Given the description of an element on the screen output the (x, y) to click on. 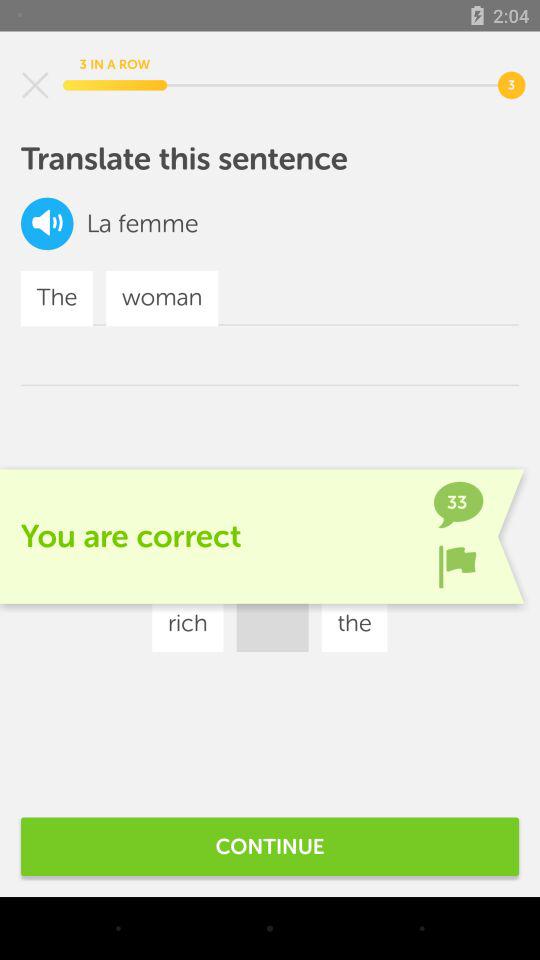
say the phrase (47, 223)
